Given the description of an element on the screen output the (x, y) to click on. 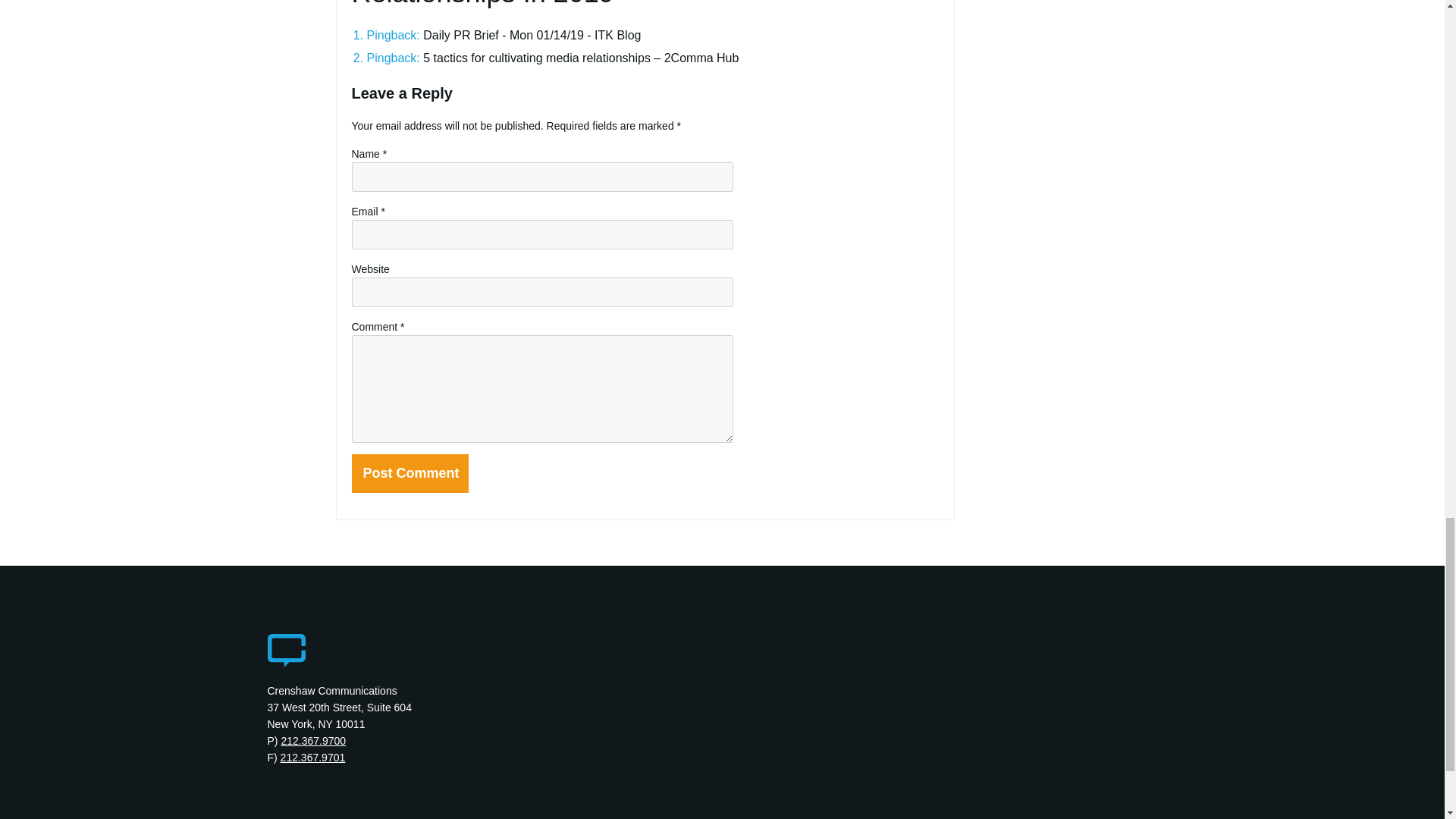
Post Comment (410, 473)
212.367.9701 (313, 757)
212.367.9700 (313, 740)
Post Comment (410, 473)
